Given the description of an element on the screen output the (x, y) to click on. 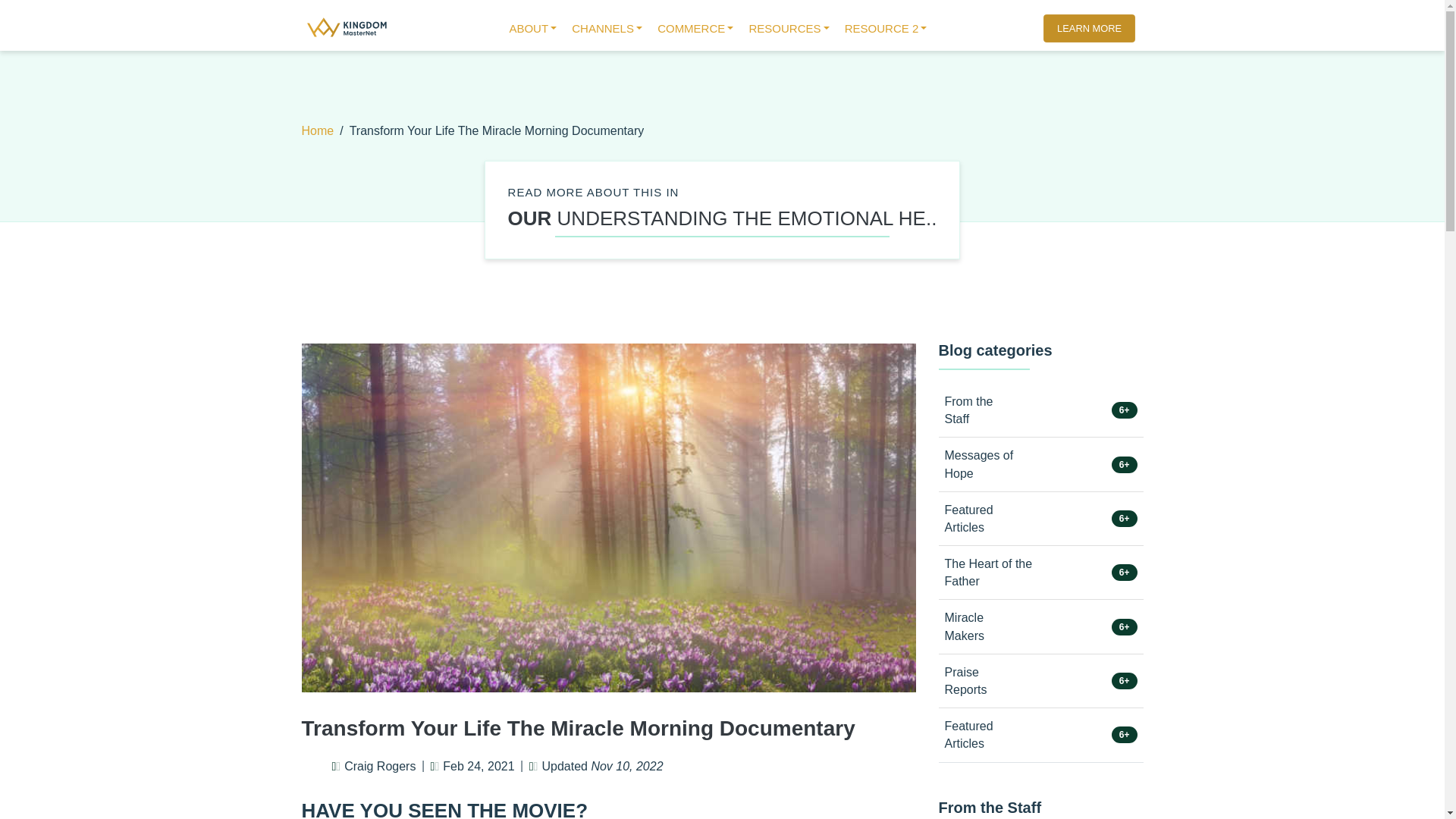
call to action (1093, 29)
RESOURCES (788, 29)
From the Staff (990, 807)
COMMERCE (695, 29)
